Given the description of an element on the screen output the (x, y) to click on. 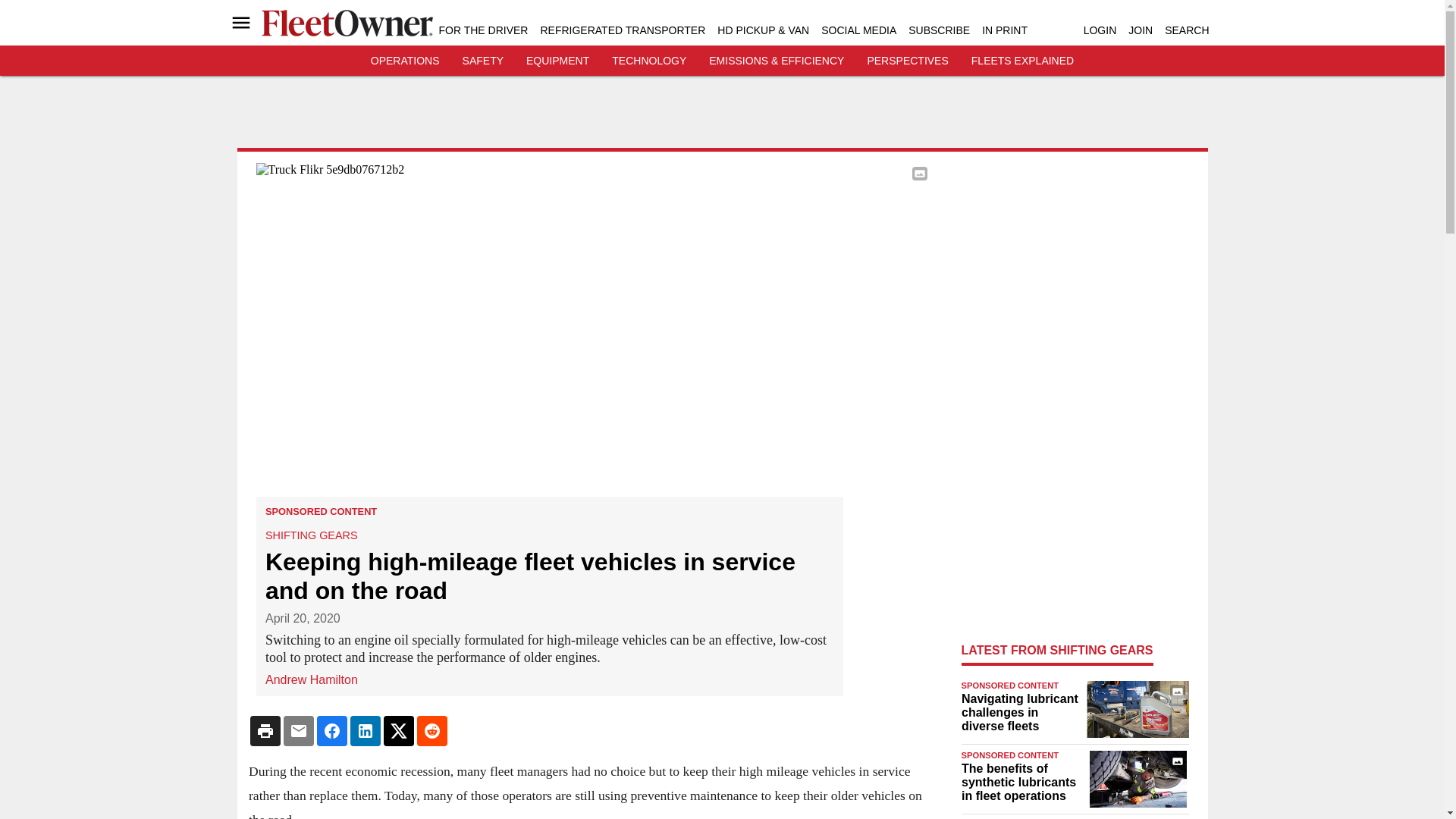
SAFETY (483, 60)
FOR THE DRIVER (482, 30)
FLEETS EXPLAINED (1022, 60)
TECHNOLOGY (648, 60)
REFRIGERATED TRANSPORTER (622, 30)
EQUIPMENT (557, 60)
SOCIAL MEDIA (858, 30)
PERSPECTIVES (906, 60)
SEARCH (1186, 30)
